Given the description of an element on the screen output the (x, y) to click on. 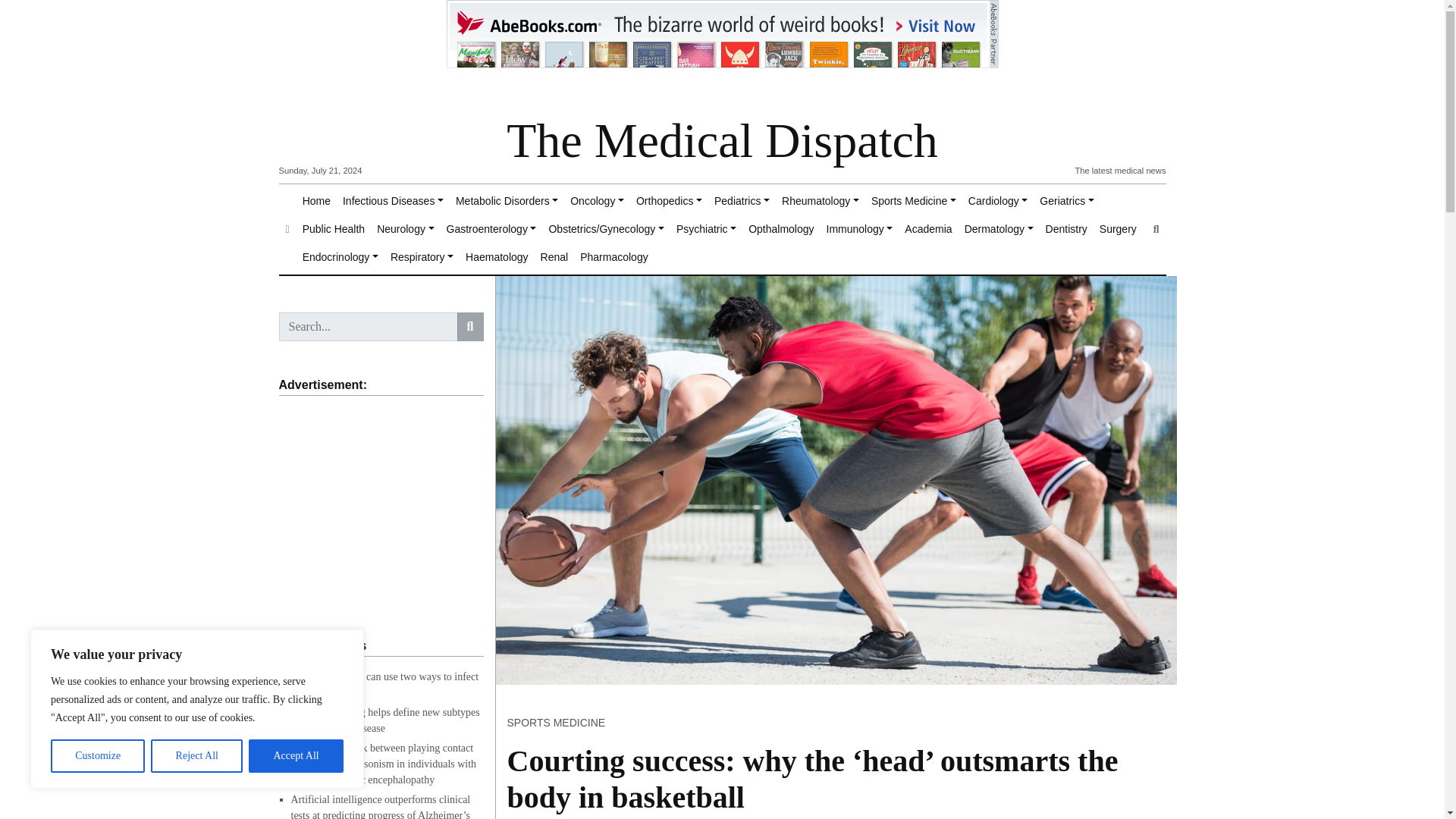
The Medical Dispatch (721, 140)
Oncology (597, 201)
Oncology (597, 201)
Metabolic Disorders (506, 201)
Home (316, 201)
Metabolic Disorders (506, 201)
Reject All (197, 756)
Pediatrics (741, 201)
Home (316, 201)
Accept All (295, 756)
Orthopedics (668, 201)
Customize (97, 756)
Infectious Diseases (392, 201)
Infectious Diseases (392, 201)
